Given the description of an element on the screen output the (x, y) to click on. 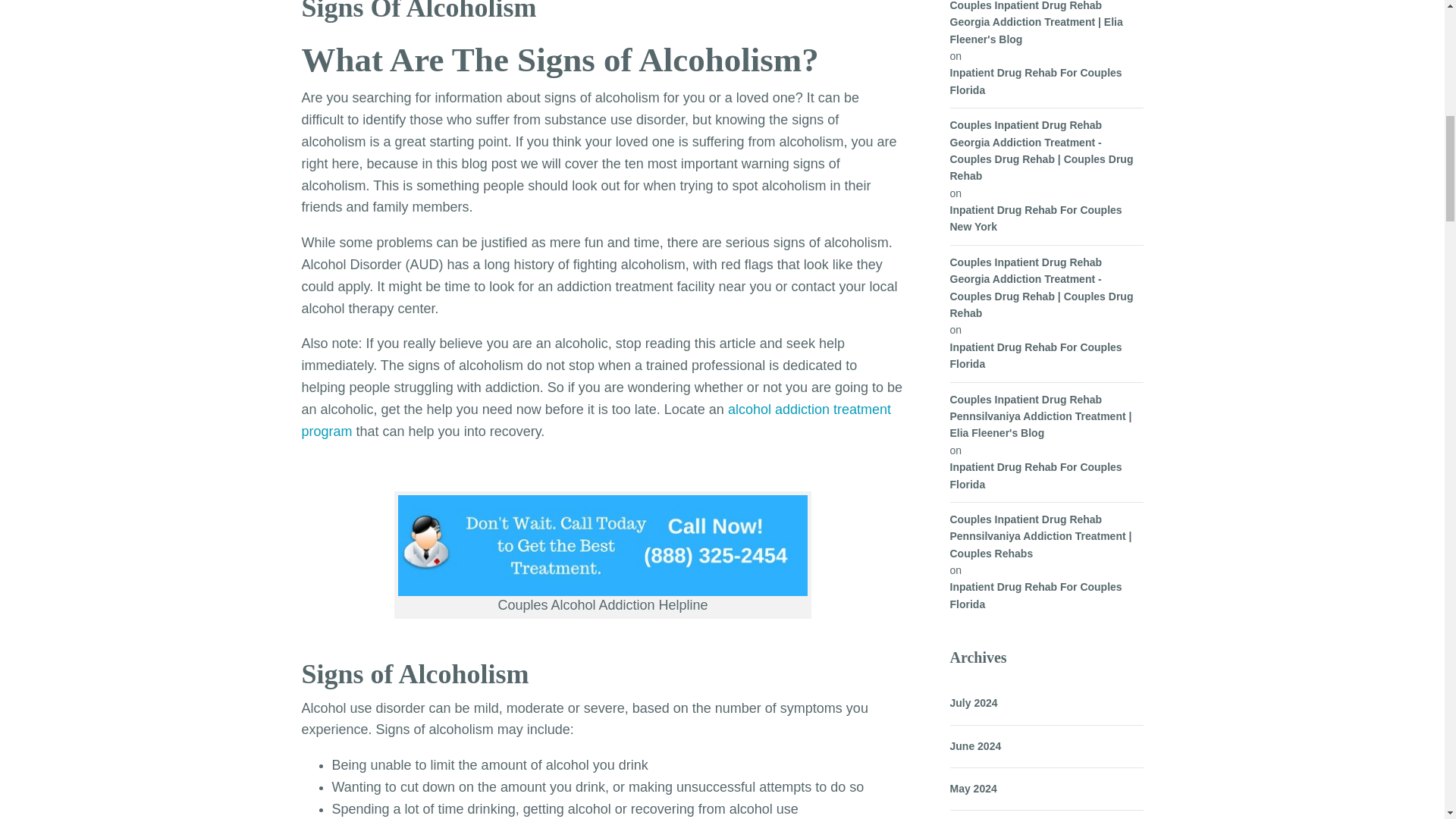
Signs Of Alcoholism Couple Rehabs (602, 545)
alcohol addiction treatment program (596, 420)
